Given the description of an element on the screen output the (x, y) to click on. 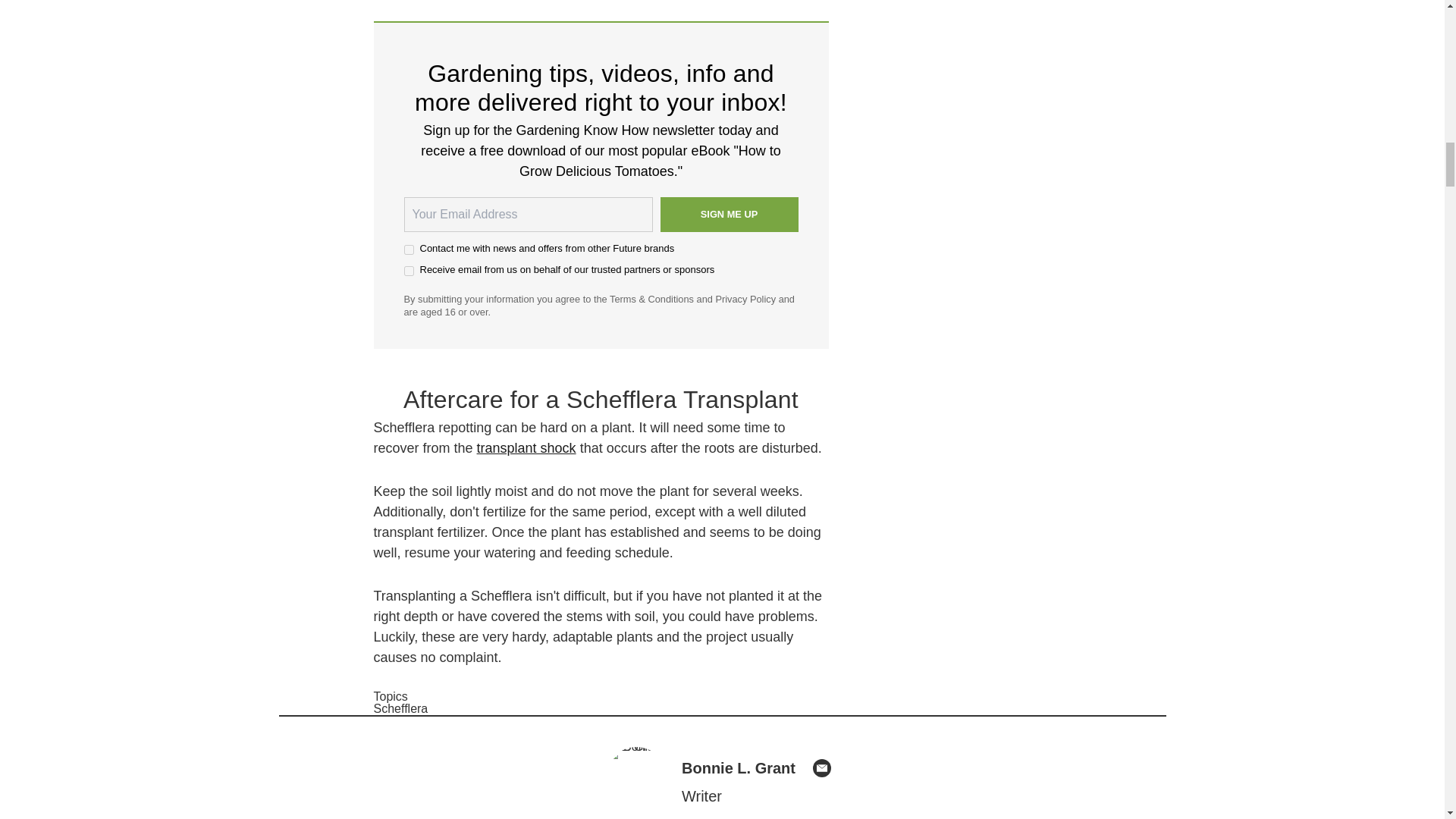
on (408, 271)
on (408, 249)
Sign me up (728, 214)
